Given the description of an element on the screen output the (x, y) to click on. 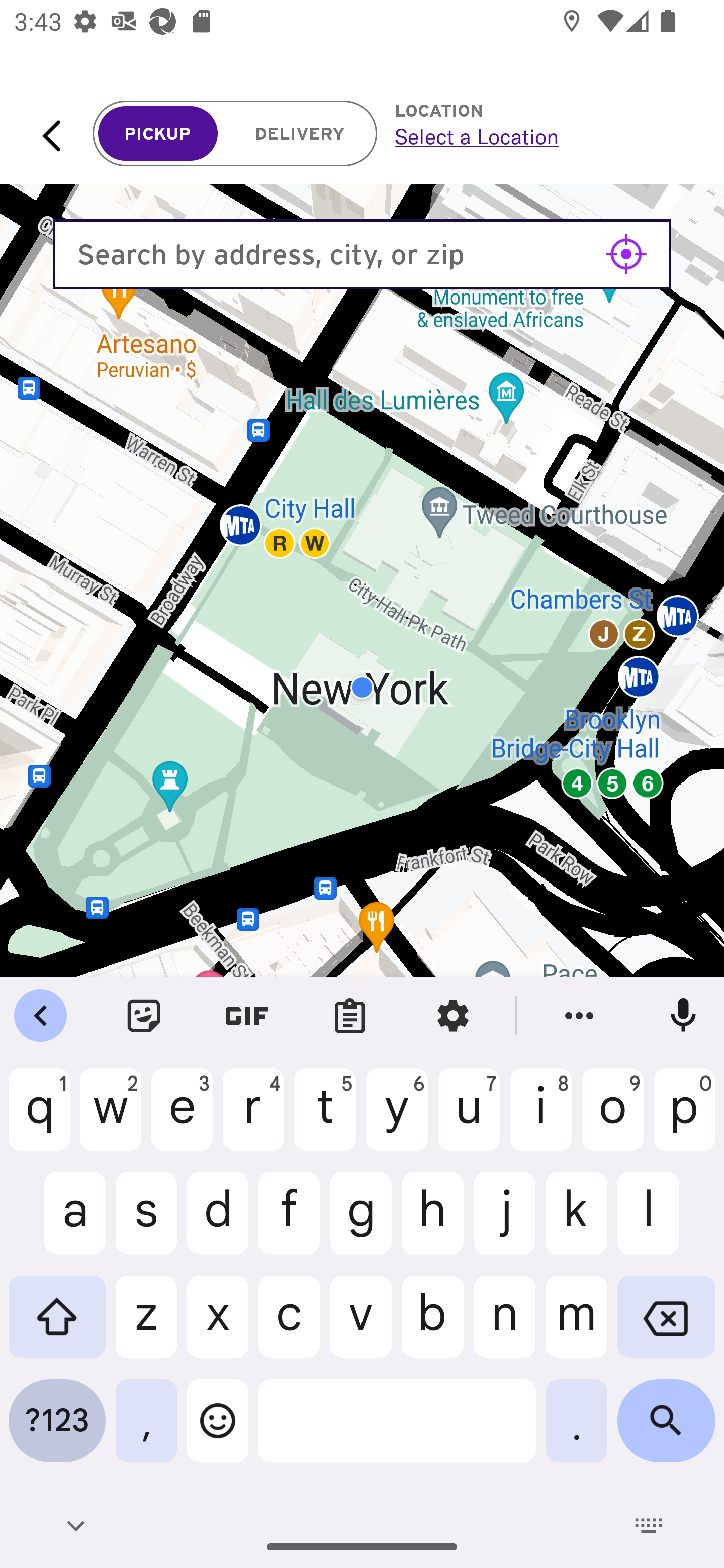
PICKUP (157, 133)
DELIVERY (299, 133)
Select a Location (536, 136)
Search by address, city, or zip (361, 254)
